Given the description of an element on the screen output the (x, y) to click on. 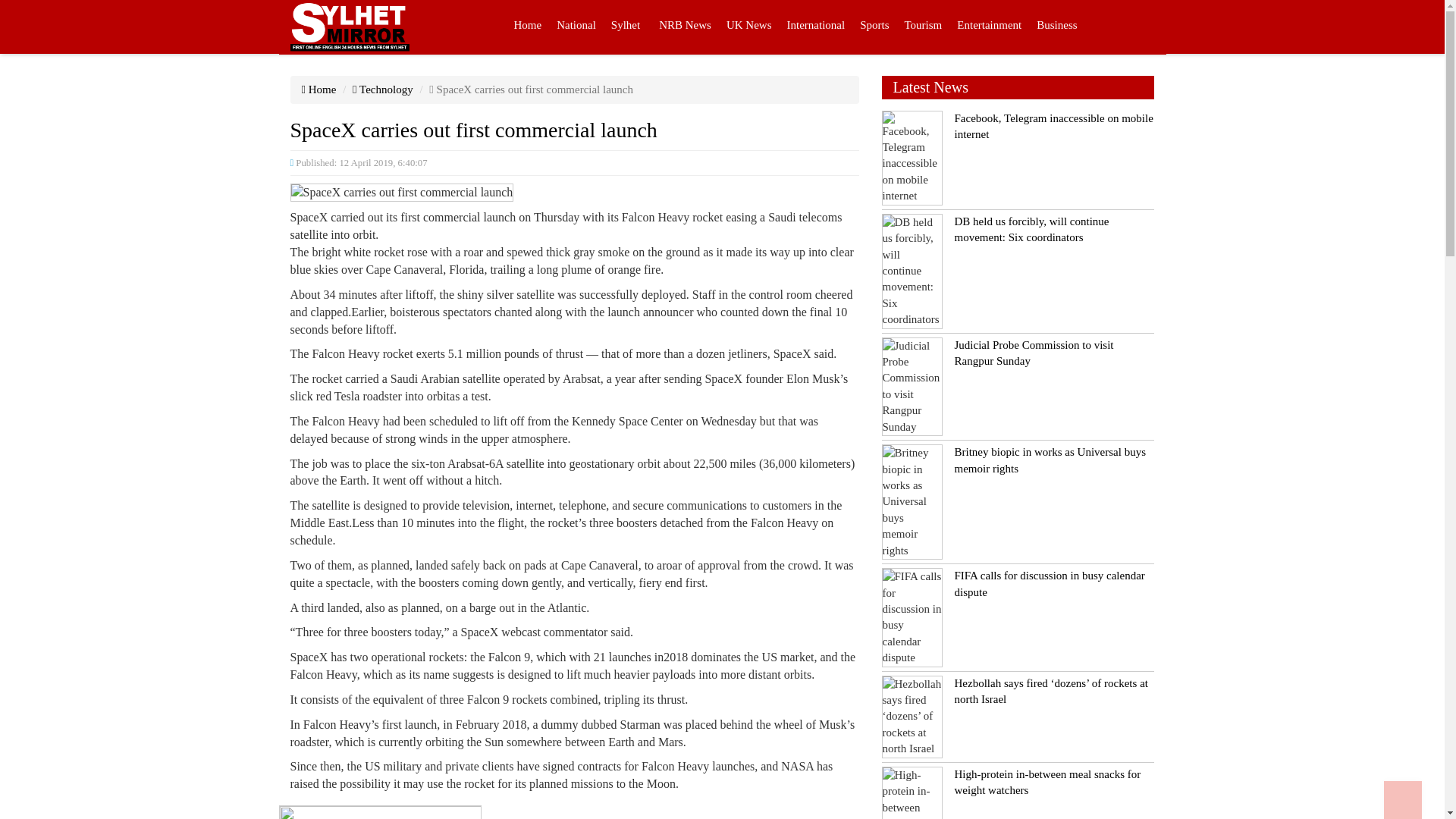
UK News (748, 26)
International (815, 26)
Entertainment (989, 26)
Business (1056, 26)
logo (349, 27)
Tourism (922, 26)
NRB News (684, 26)
National (576, 26)
